Given the description of an element on the screen output the (x, y) to click on. 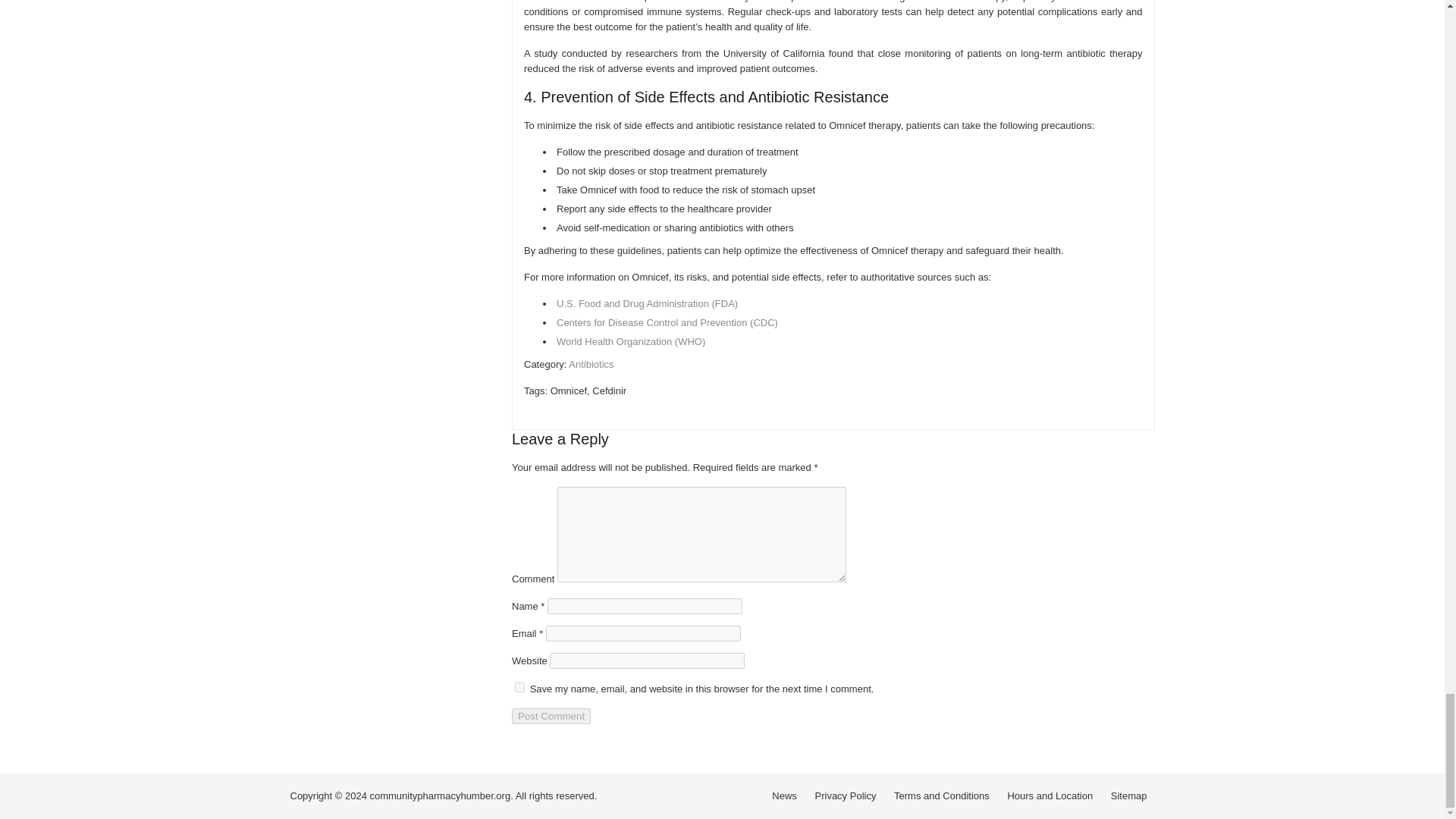
Antibiotics (590, 364)
Post Comment (551, 715)
yes (519, 687)
Post Comment (551, 715)
